Given the description of an element on the screen output the (x, y) to click on. 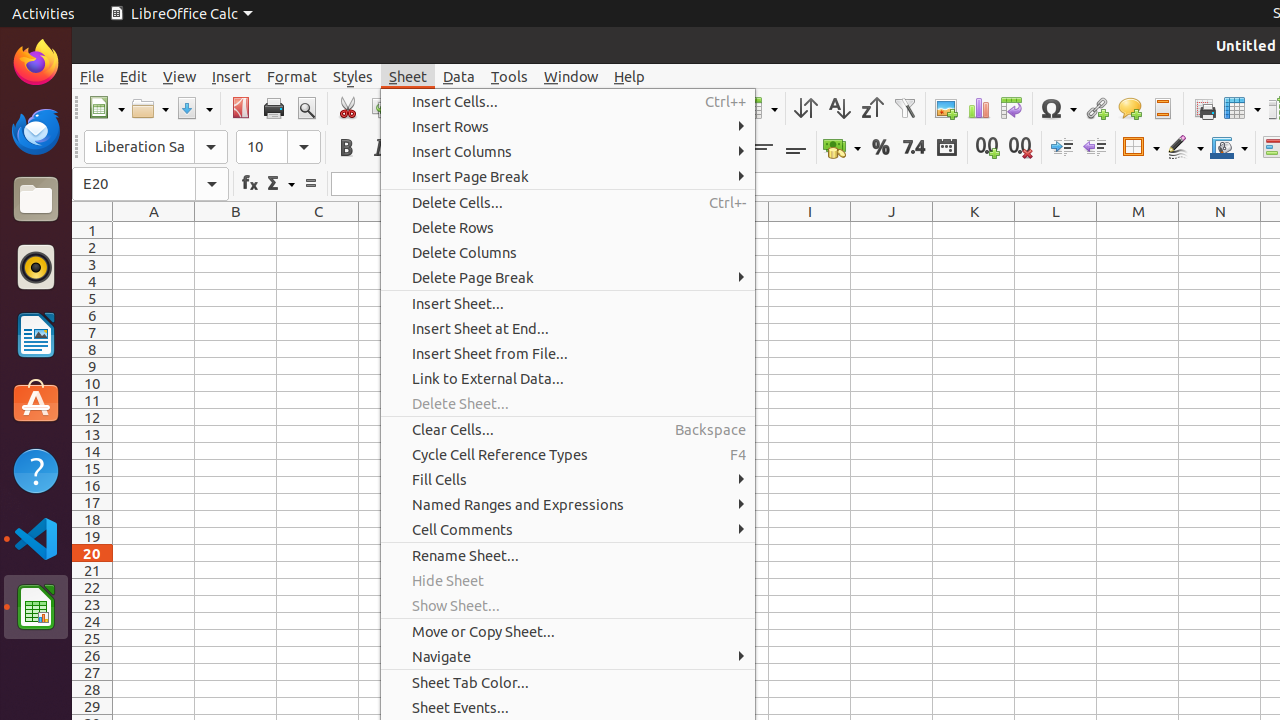
Insert Page Break Element type: menu (568, 176)
Help Element type: menu (629, 76)
Insert Sheet from File... Element type: menu-item (568, 353)
Formula Element type: push-button (310, 183)
Ubuntu Software Element type: push-button (36, 402)
